Given the description of an element on the screen output the (x, y) to click on. 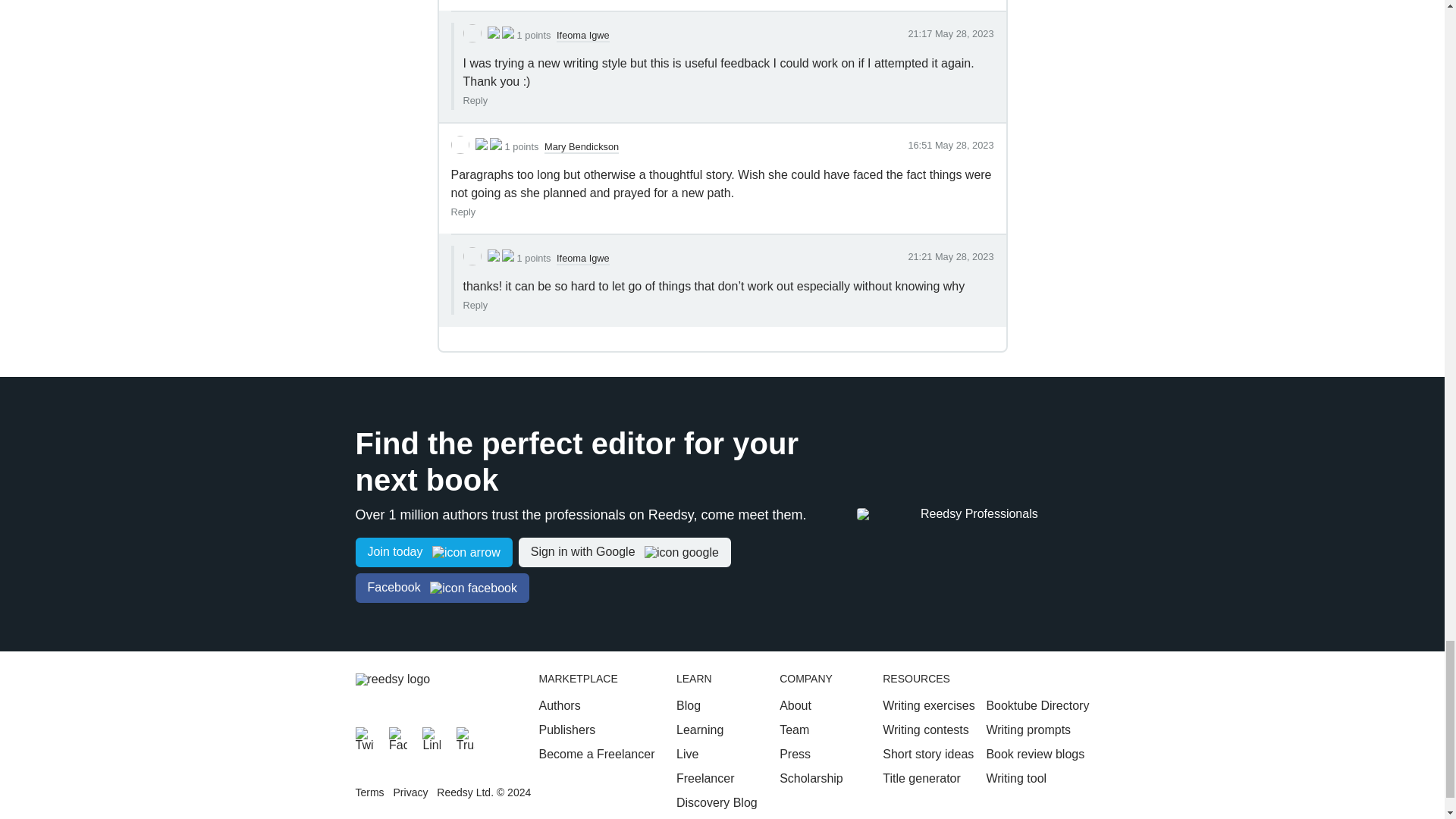
LinkedIn (431, 736)
Sign in with Google (624, 552)
Twitter (363, 736)
Sign in with Facebook (441, 587)
Sign up (433, 552)
Facebook (397, 736)
Trustpilot (465, 736)
